Given the description of an element on the screen output the (x, y) to click on. 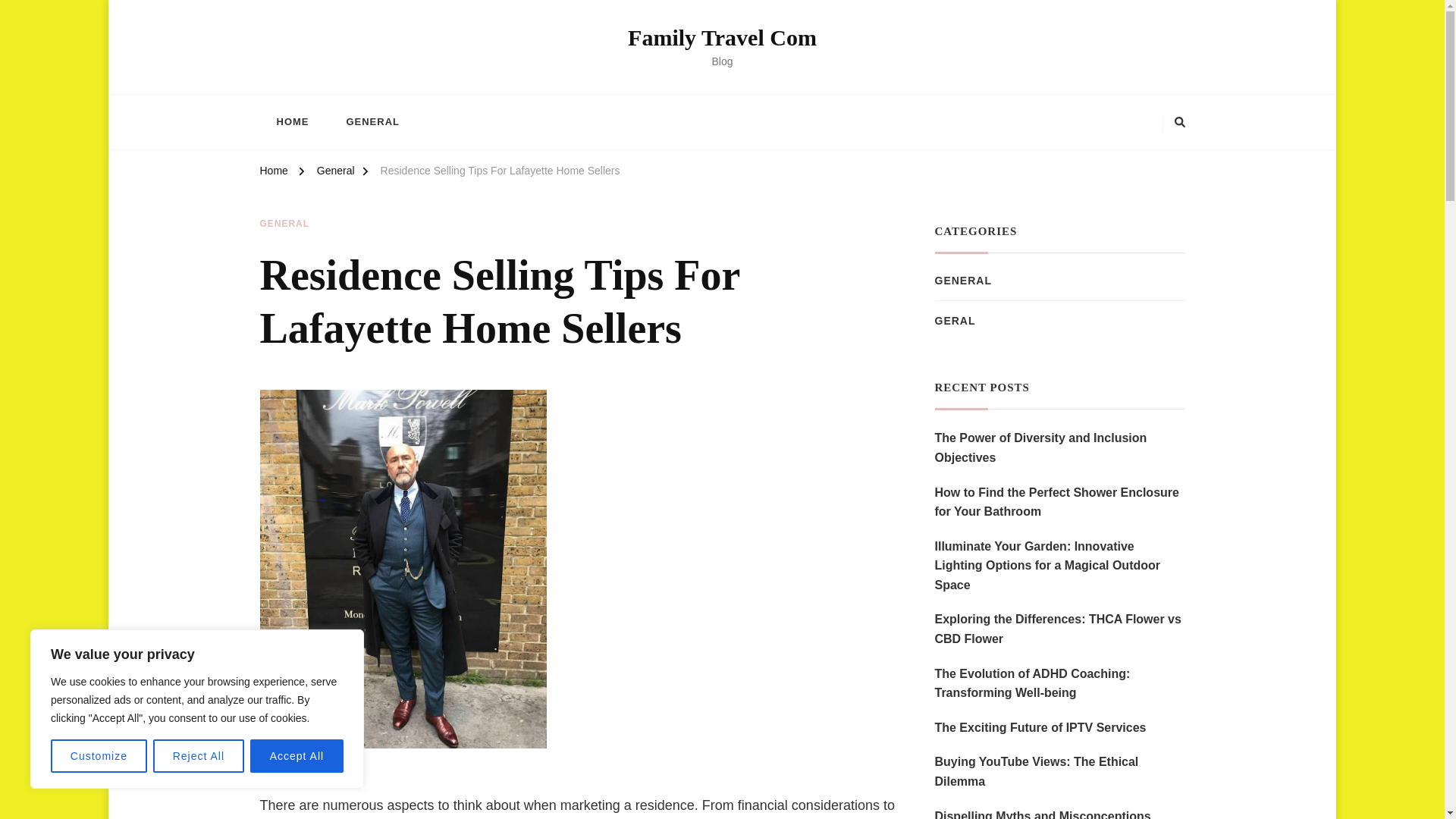
General (336, 172)
GENERAL (283, 223)
Reject All (198, 756)
Customize (98, 756)
HOME (291, 121)
Accept All (296, 756)
Residence Selling Tips For Lafayette Home Sellers (500, 172)
Home (272, 172)
GENERAL (371, 121)
Family Travel Com (721, 37)
